Given the description of an element on the screen output the (x, y) to click on. 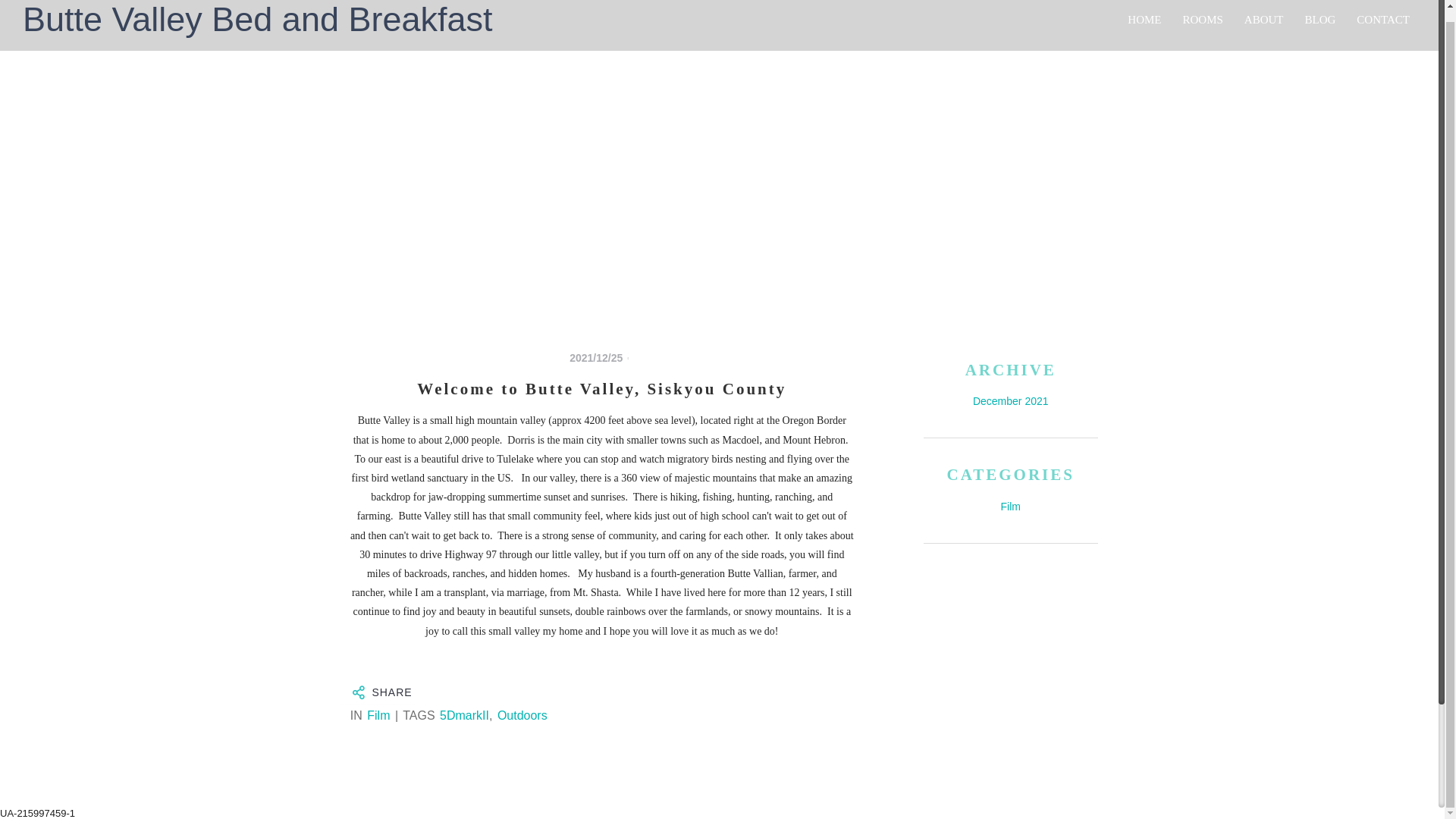
BLOG (1320, 18)
5DmarkII (464, 715)
CONTACT (1383, 18)
December 2021 (1010, 400)
Film (378, 715)
HOME (1144, 18)
Butte Valley Bed and Breakfast (246, 19)
Film (1010, 506)
Outdoors (522, 715)
Welcome to Butte Valley, Siskyou County (601, 389)
ABOUT (1264, 18)
ROOMS (1202, 18)
